Given the description of an element on the screen output the (x, y) to click on. 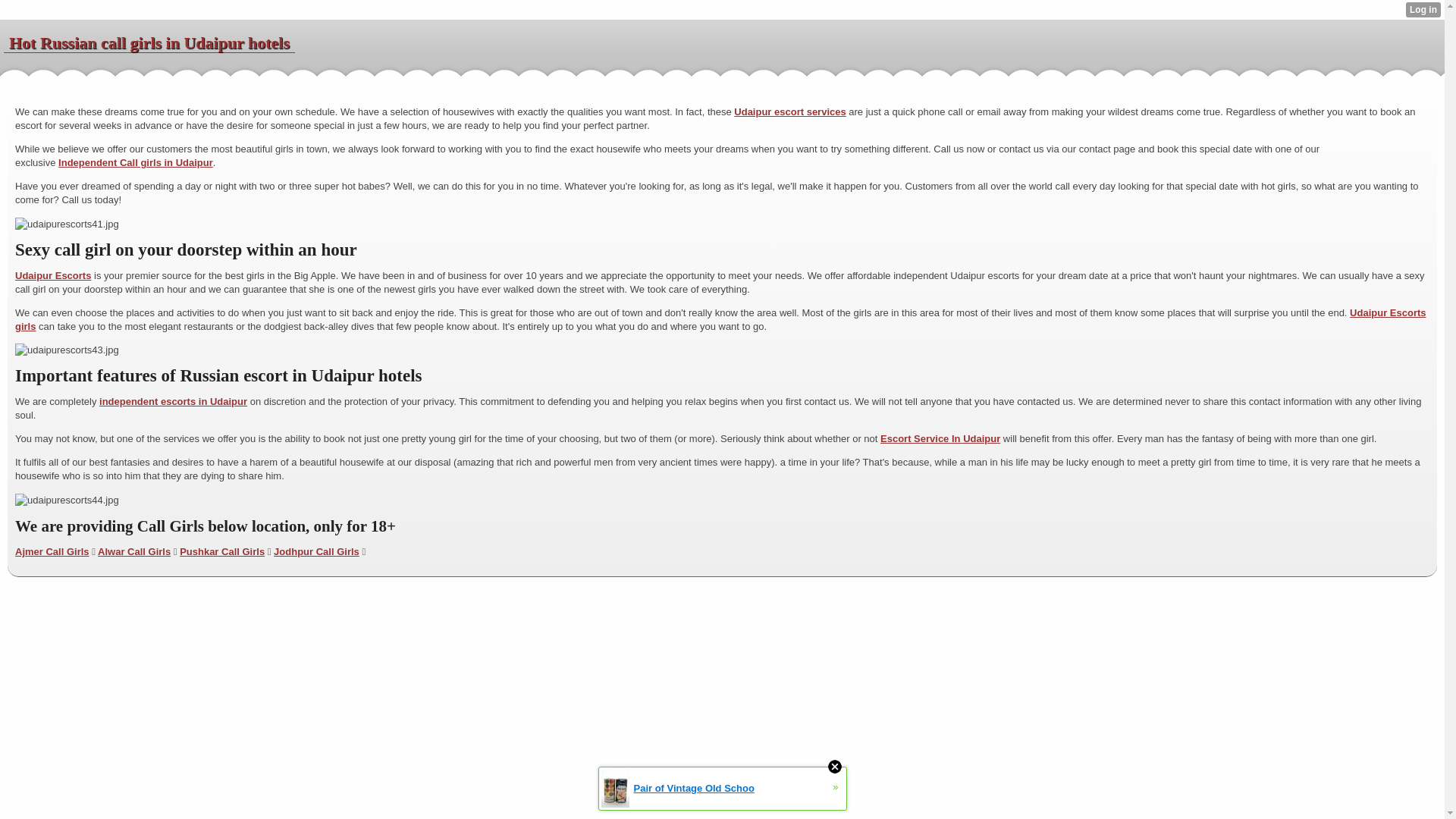
Pushkar Call Girls (221, 551)
Ajmer Call Girls (51, 551)
Udaipur escort services (789, 111)
Udaipur Escorts girls (720, 319)
independent escorts in Udaipur (173, 401)
Udaipur Escorts (52, 275)
Hot Russian call girls in Udaipur hotels (149, 43)
Alwar Call Girls (133, 551)
Independent Call girls in Udaipur (135, 162)
Jodhpur Call Girls (316, 551)
Escort Service In Udaipur (940, 438)
